Given the description of an element on the screen output the (x, y) to click on. 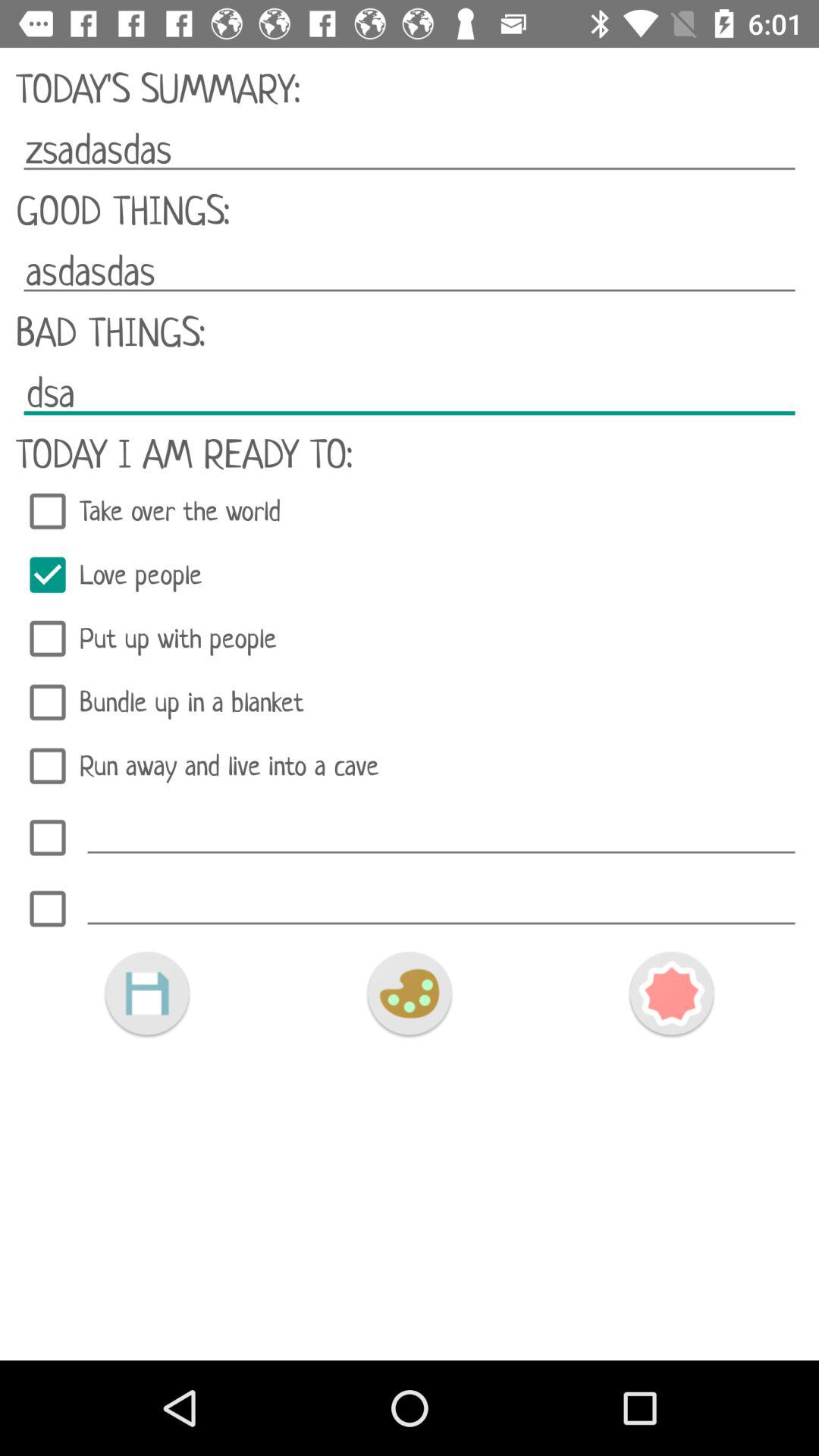
scroll until run away and item (409, 765)
